Given the description of an element on the screen output the (x, y) to click on. 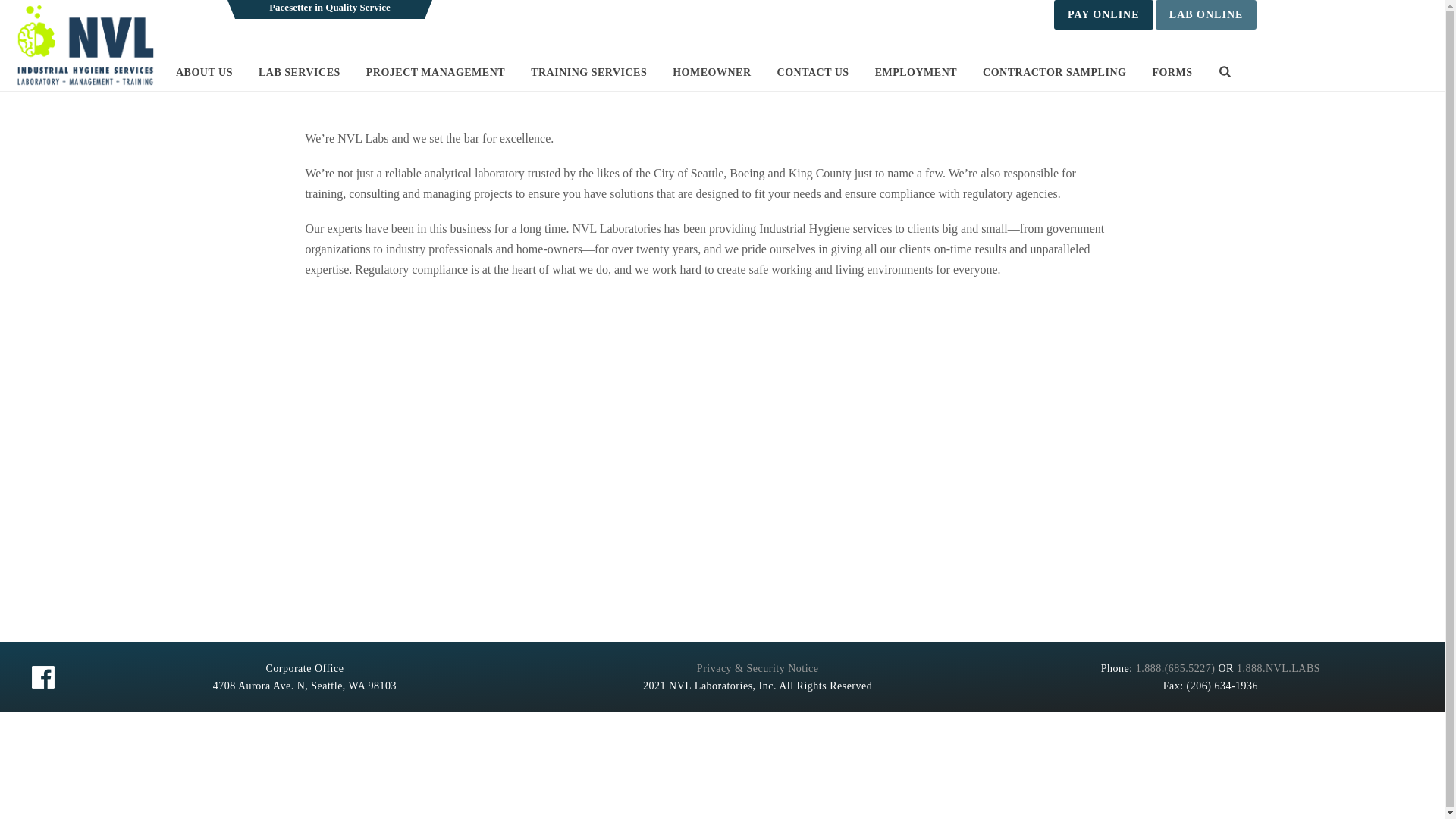
HOMEOWNER (715, 72)
ABOUT US (207, 72)
CONTRACTOR SAMPLING (1058, 72)
EMPLOYMENT (920, 72)
ABOUT US (1010, 72)
CONTACT US (817, 72)
FORMS (1175, 72)
FORMS (1175, 72)
CONTACT US (817, 72)
1.888.NVL.LABS (1278, 668)
TRAINING SERVICES (592, 72)
HOME (952, 72)
PROJECT MANAGEMENT (438, 72)
Pacesetter in Quality Service (84, 45)
HOMEOWNER (715, 72)
